Given the description of an element on the screen output the (x, y) to click on. 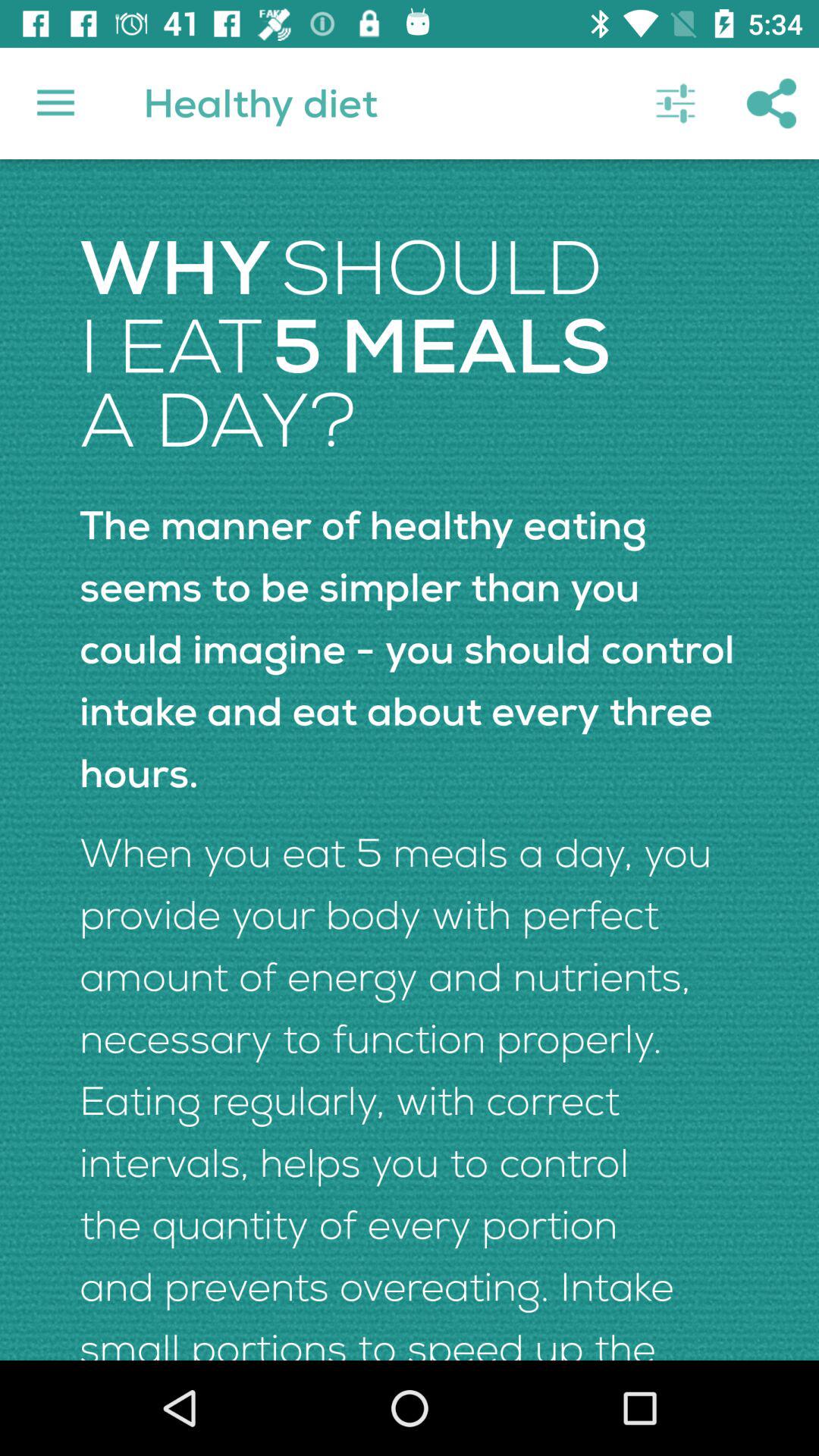
open icon to the left of healthy diet (55, 103)
